Given the description of an element on the screen output the (x, y) to click on. 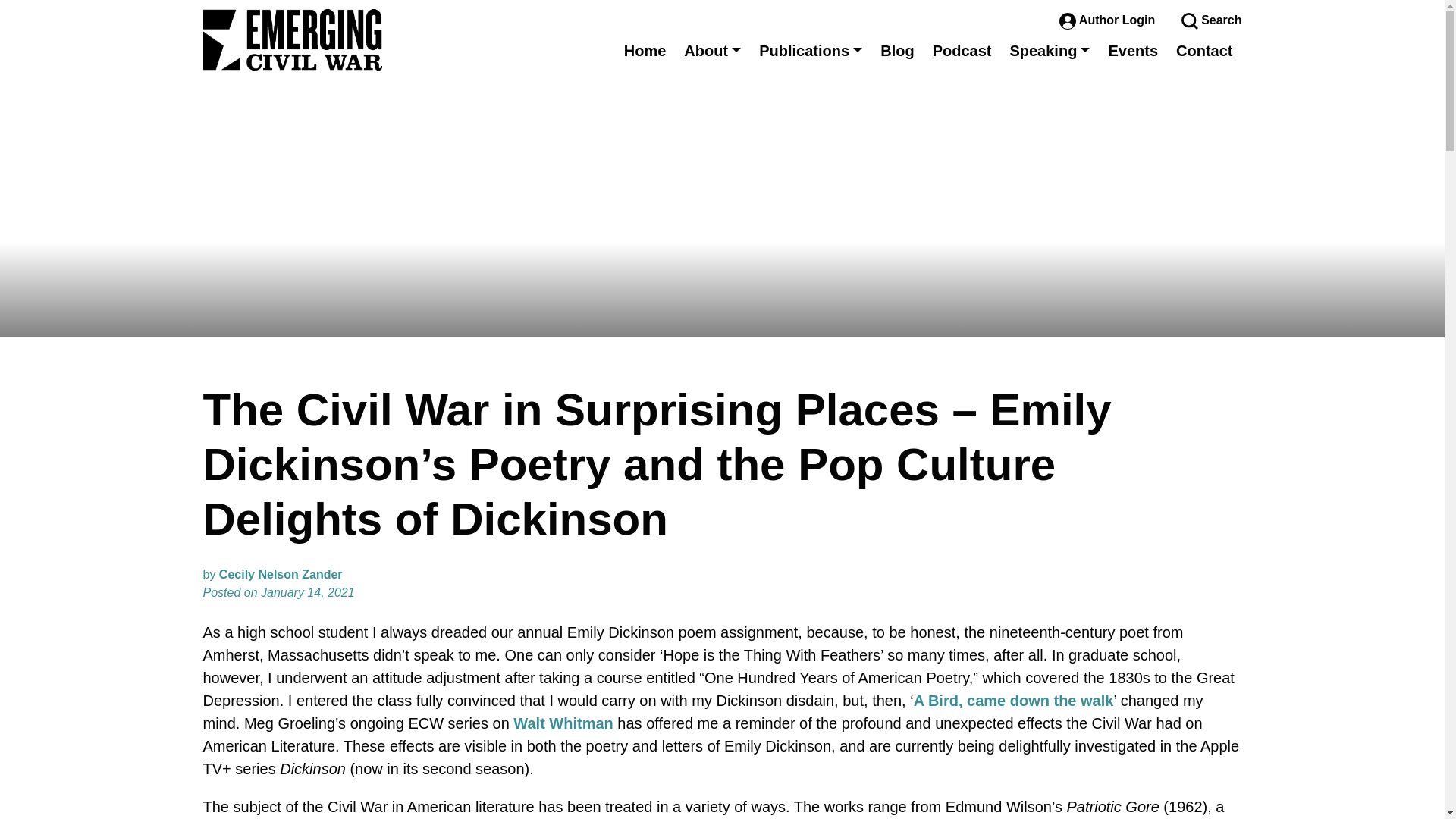
Walt Whitman (562, 723)
About (712, 50)
Blog (896, 50)
Contact (1204, 50)
Search (1210, 19)
Speaking (1049, 50)
A Bird, came down the walk (1013, 700)
Publications (809, 50)
Podcast (962, 50)
Home (644, 50)
Author Login (1108, 19)
Events (1133, 50)
Cecily Nelson Zander (280, 574)
